Given the description of an element on the screen output the (x, y) to click on. 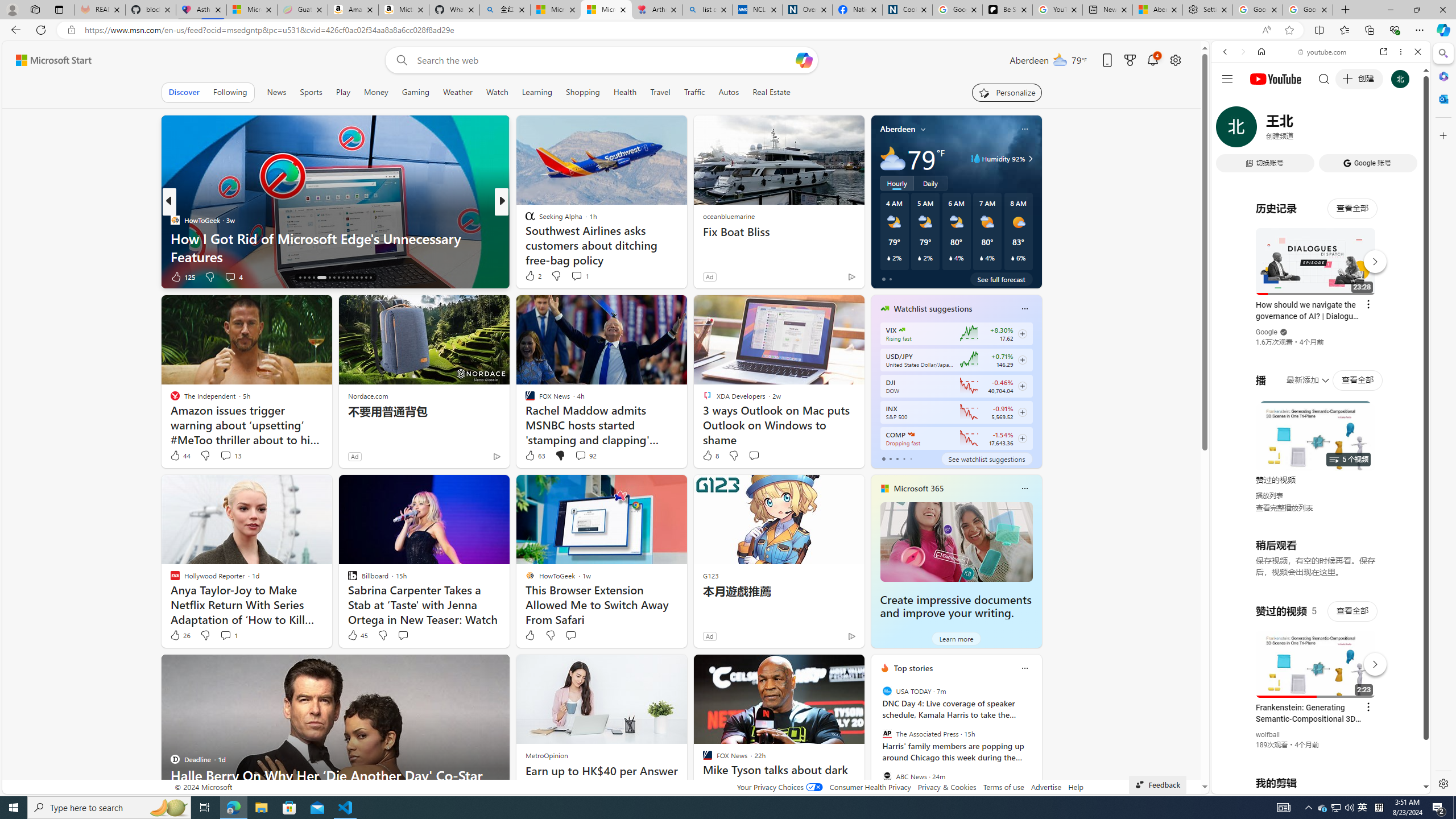
previous (876, 741)
AutomationID: tab-30 (370, 277)
View comments 92 Comment (585, 455)
71 Like (530, 276)
